Given the description of an element on the screen output the (x, y) to click on. 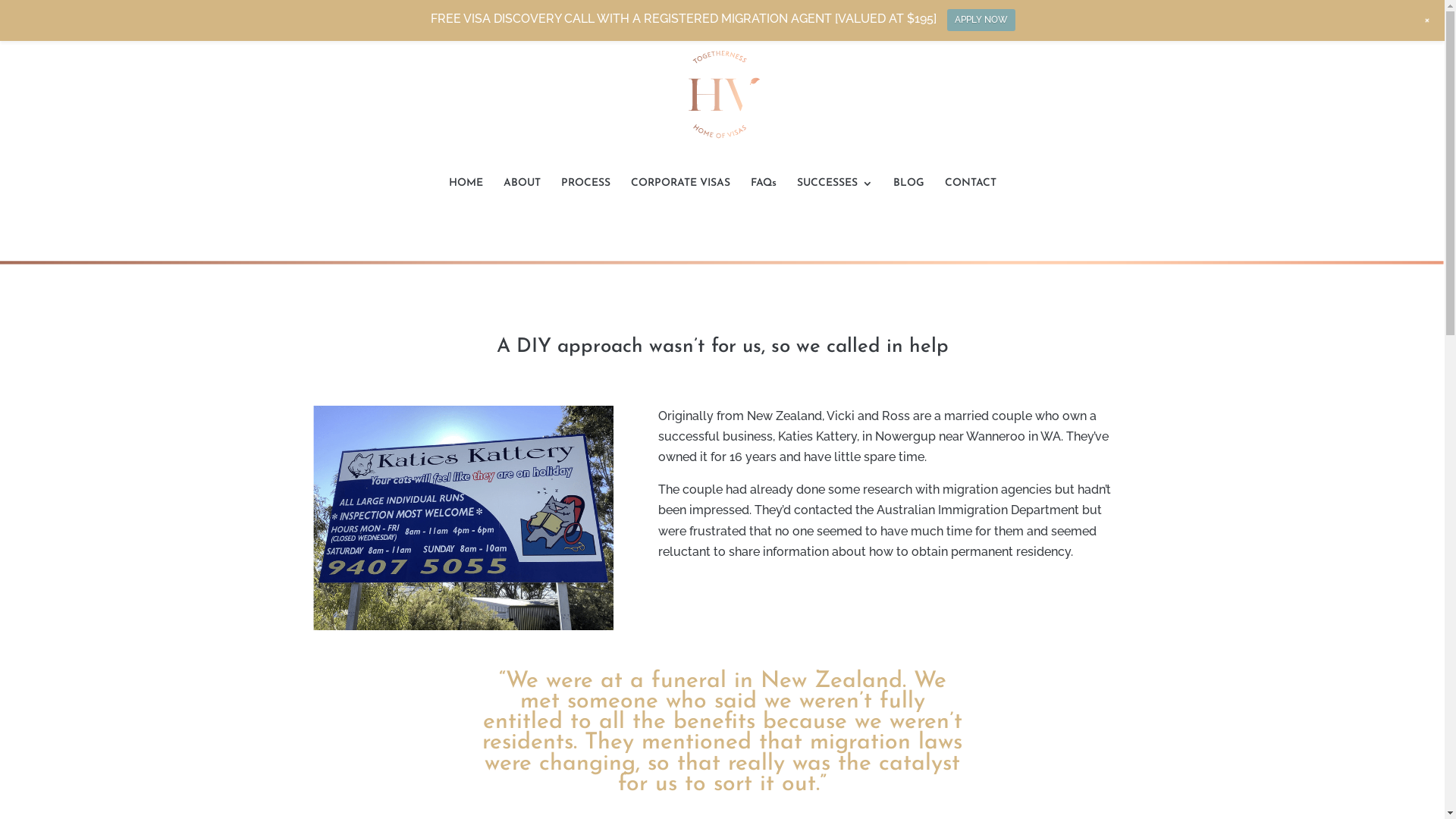
CORPORATE VISAS Element type: text (680, 198)
APPLY NOW Element type: text (981, 20)
FAQs Element type: text (763, 198)
SUCCESSES Element type: text (834, 198)
+ Element type: text (1426, 20)
CONTACT Element type: text (970, 198)
BLOG Element type: text (908, 198)
PROCESS Element type: text (585, 198)
ABOUT Element type: text (521, 198)
HOME Element type: text (465, 198)
